Given the description of an element on the screen output the (x, y) to click on. 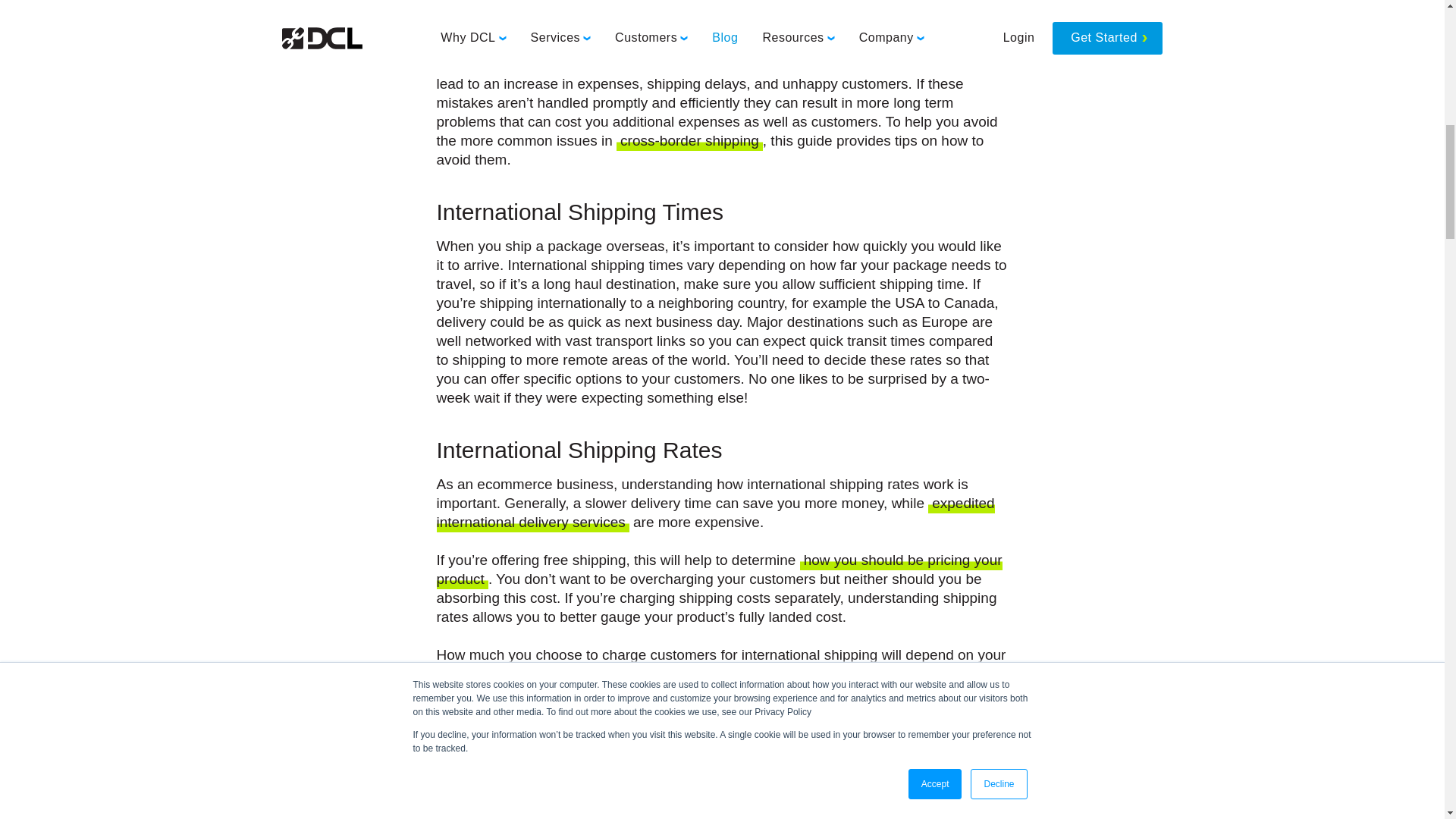
most cost effective way to ship (826, 814)
ecommerce business (591, 27)
cross-border shipping (688, 141)
expedited international delivery services (715, 513)
shipping (898, 46)
how you should be pricing your product (719, 570)
